Given the description of an element on the screen output the (x, y) to click on. 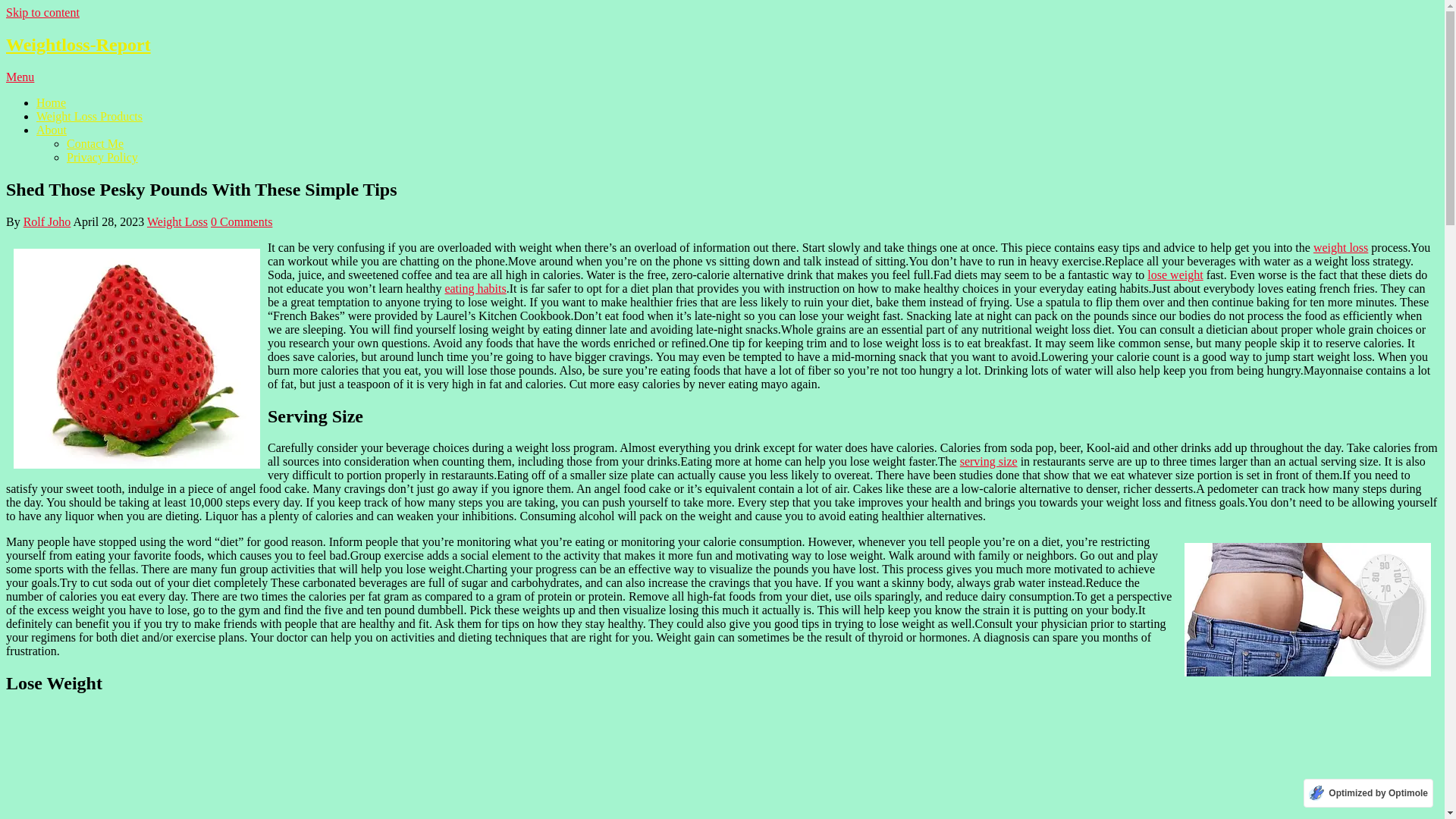
Rolf Joho (47, 221)
Menu (19, 76)
weight loss (1340, 246)
Posts by Rolf Joho (47, 221)
Shed Those Pesky Pounds With These Simple Tips (1308, 609)
About (51, 129)
Skip to content (42, 11)
Shed Those Pesky Pounds With These Simple Tips (136, 358)
Contact Me (94, 143)
Home (50, 102)
lose weight (1174, 274)
0 Comments (241, 221)
Weightloss-Report (78, 44)
eating habits (474, 287)
serving size (988, 461)
